Given the description of an element on the screen output the (x, y) to click on. 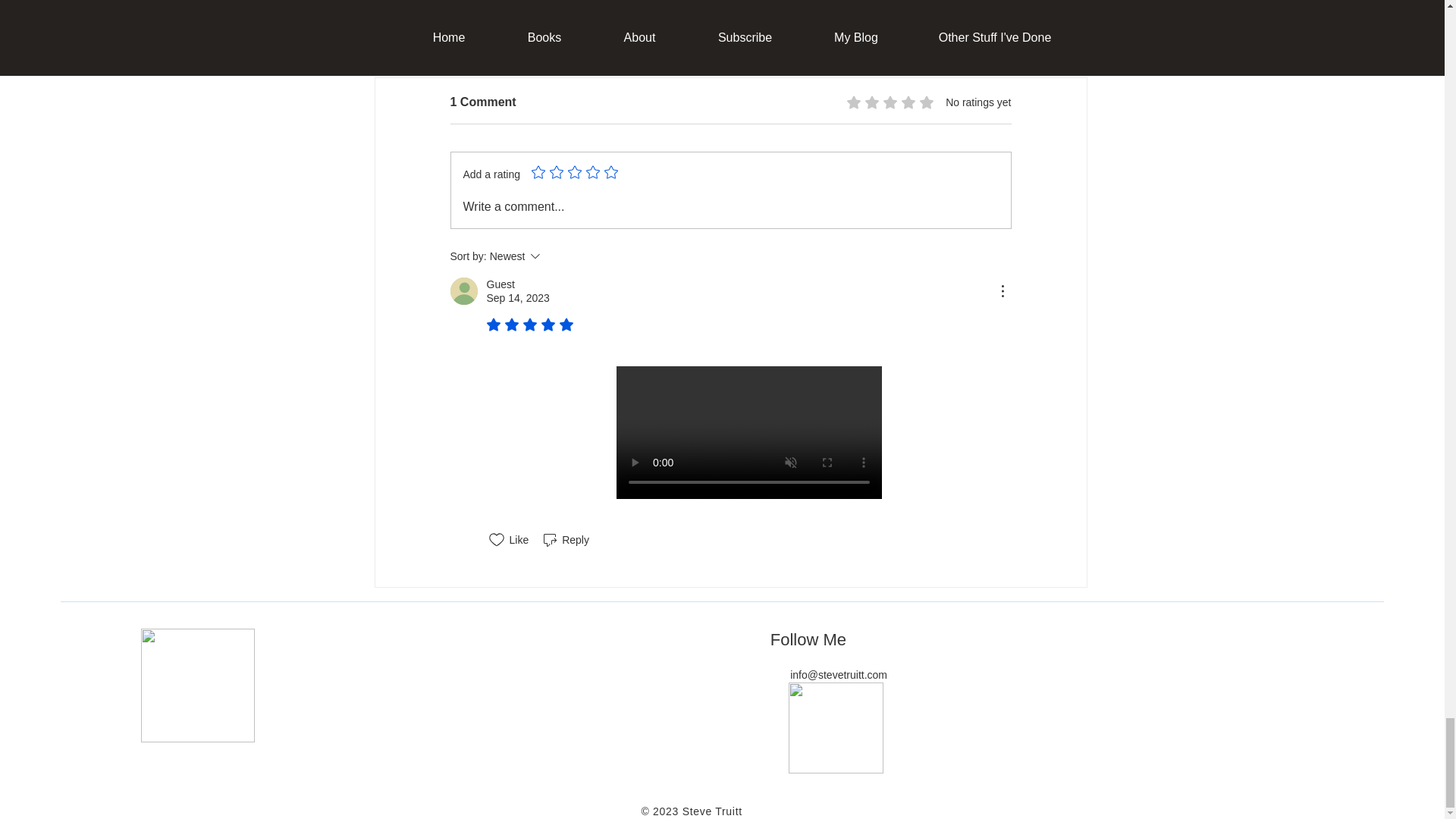
0 (940, 23)
0 (694, 23)
0 (1055, 23)
4 (448, 23)
Write a comment... (809, 23)
